Given the description of an element on the screen output the (x, y) to click on. 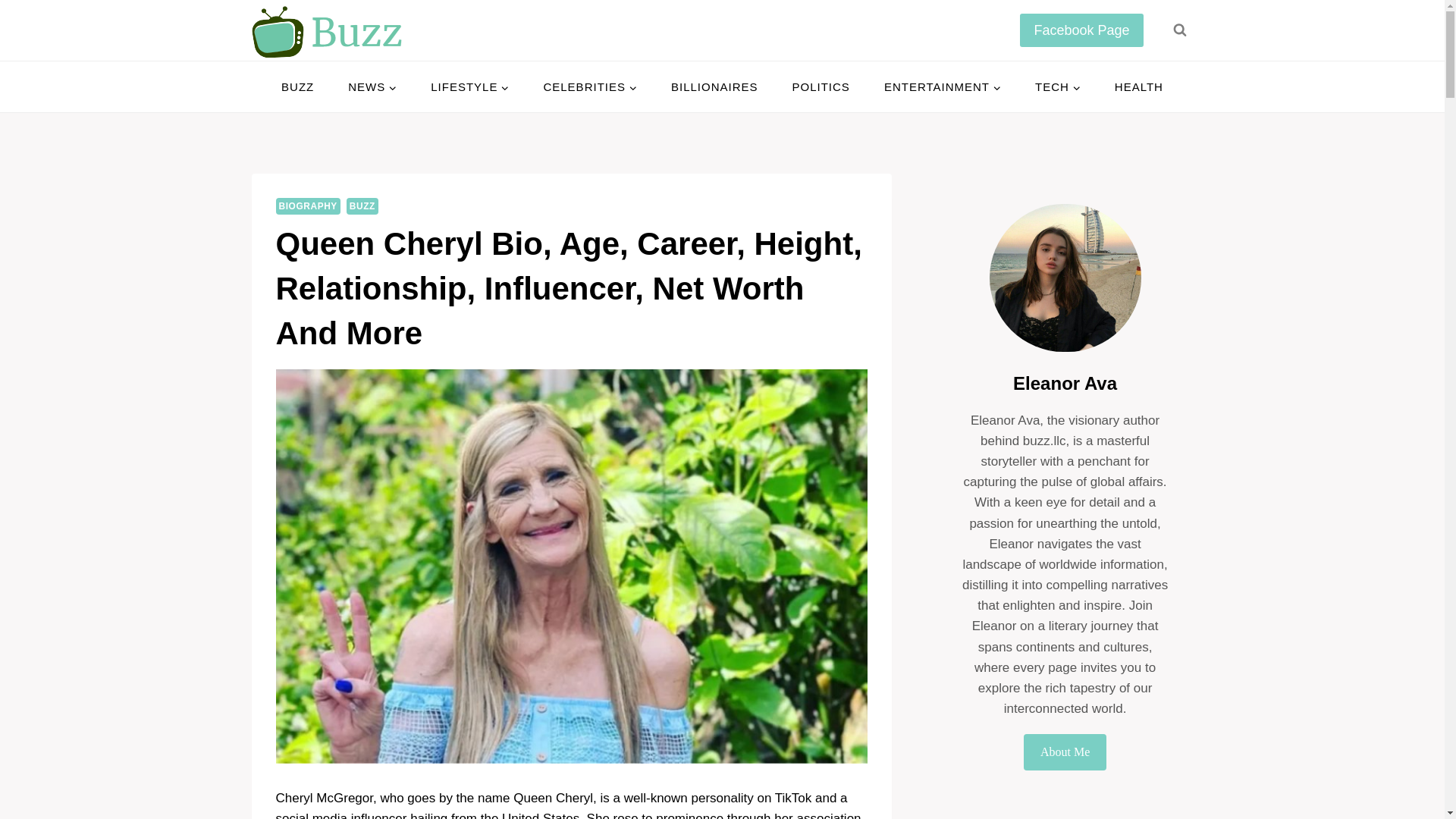
NEWS (372, 86)
LIFESTYLE (469, 86)
Facebook Page (1081, 29)
TECH (1057, 86)
POLITICS (820, 86)
BUZZ (297, 86)
BUZZ (362, 206)
BILLIONAIRES (713, 86)
BIOGRAPHY (308, 206)
ENTERTAINMENT (941, 86)
HEALTH (1138, 86)
CELEBRITIES (589, 86)
